Given the description of an element on the screen output the (x, y) to click on. 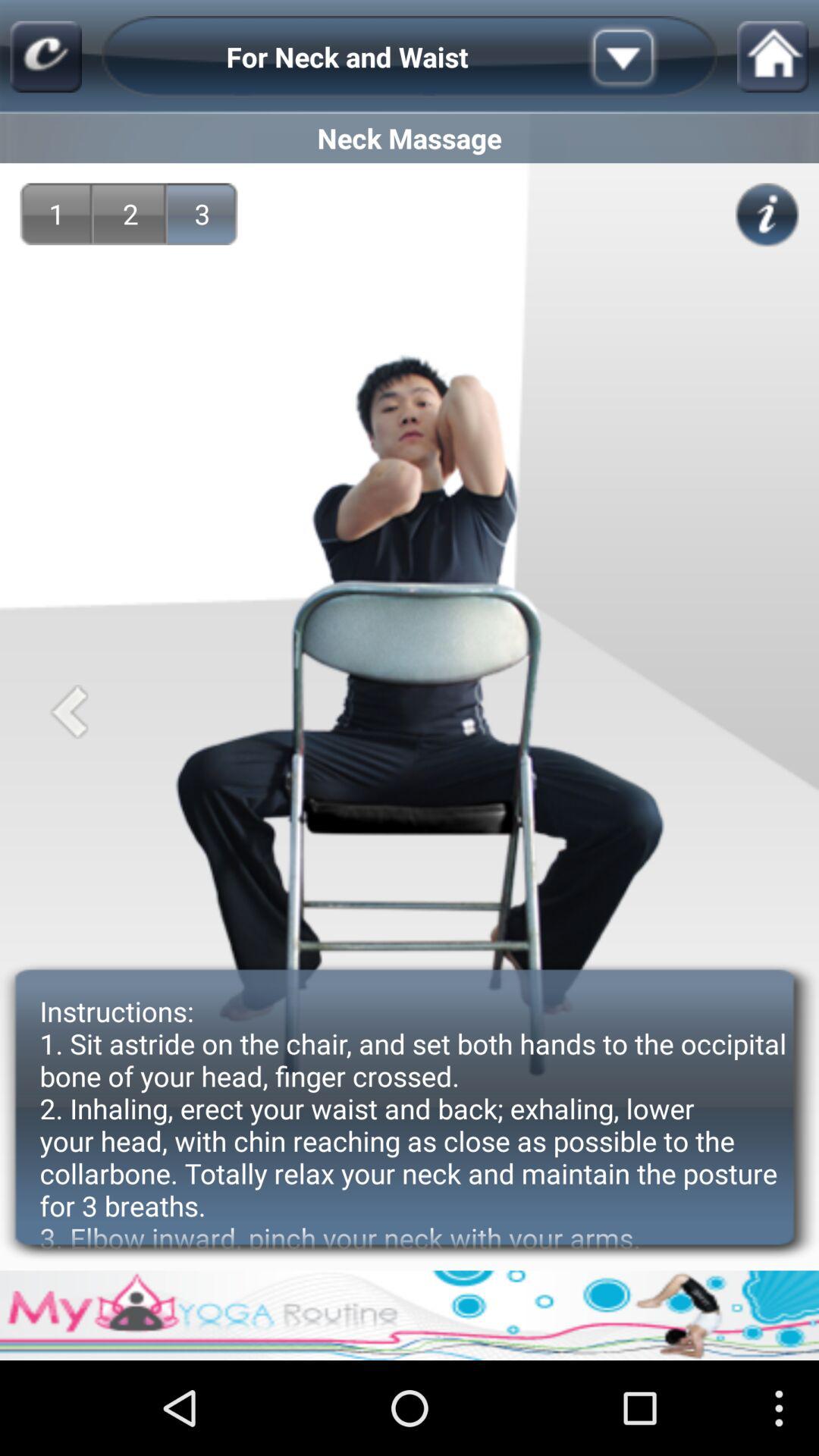
turn off the item on the left (68, 711)
